Given the description of an element on the screen output the (x, y) to click on. 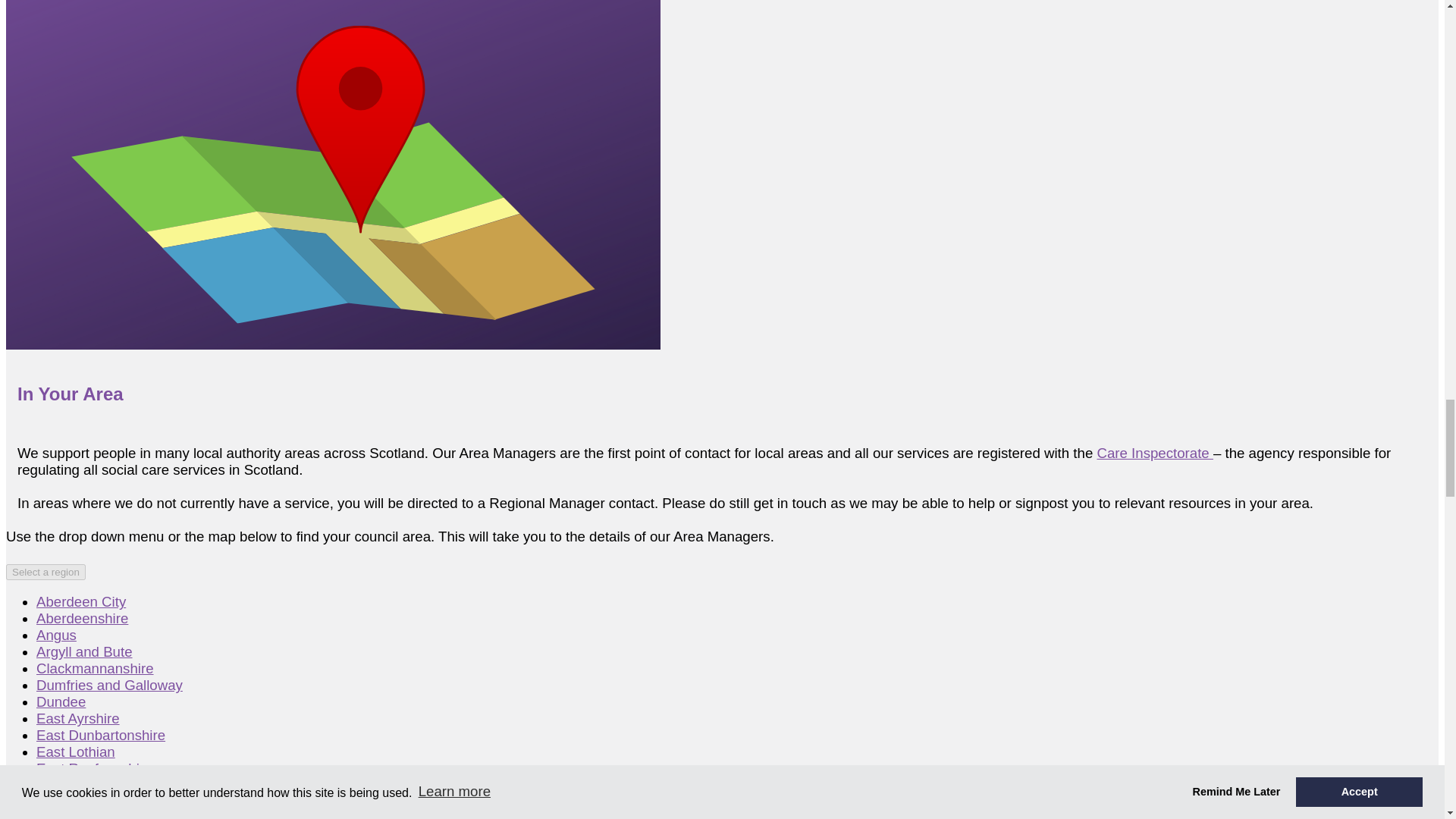
Care Inspectorate website (1154, 453)
